Given the description of an element on the screen output the (x, y) to click on. 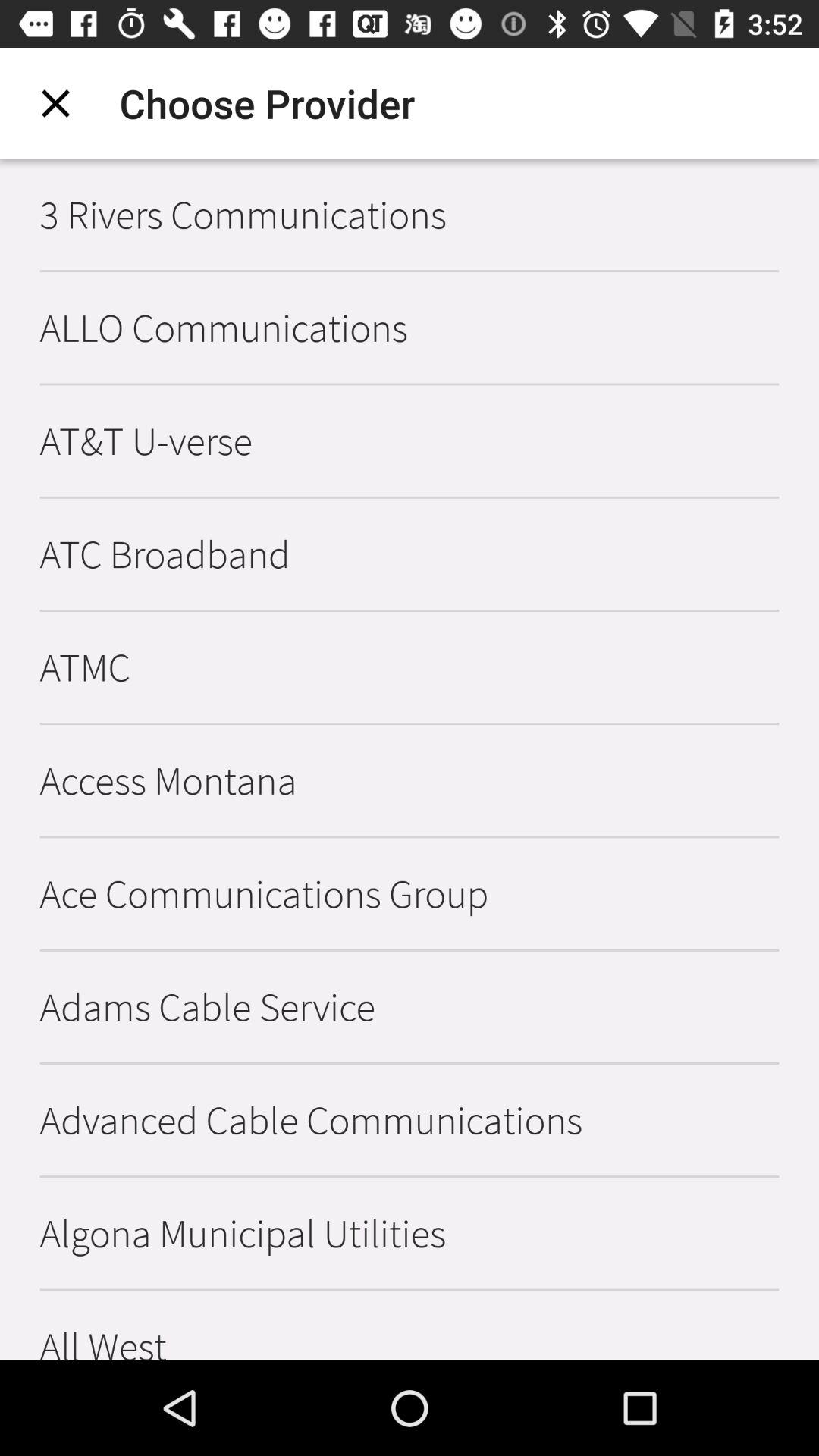
choose the item to the left of choose provider (55, 103)
